Given the description of an element on the screen output the (x, y) to click on. 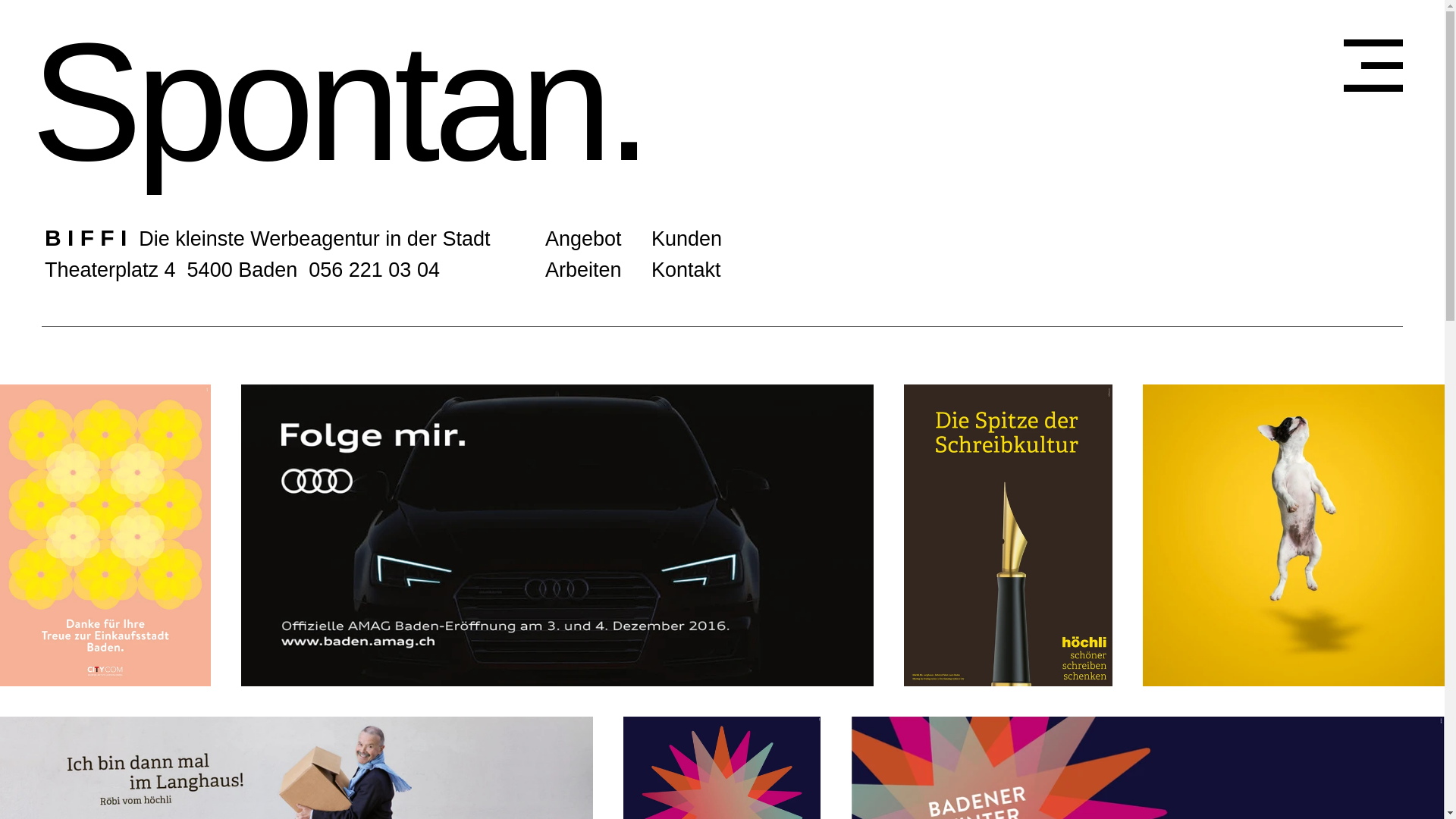
Arbeiten Element type: text (583, 268)
Angebot Element type: text (583, 238)
Kreativ. Element type: text (279, 102)
Kunden Element type: text (686, 238)
Kontakt Element type: text (686, 268)
